Given the description of an element on the screen output the (x, y) to click on. 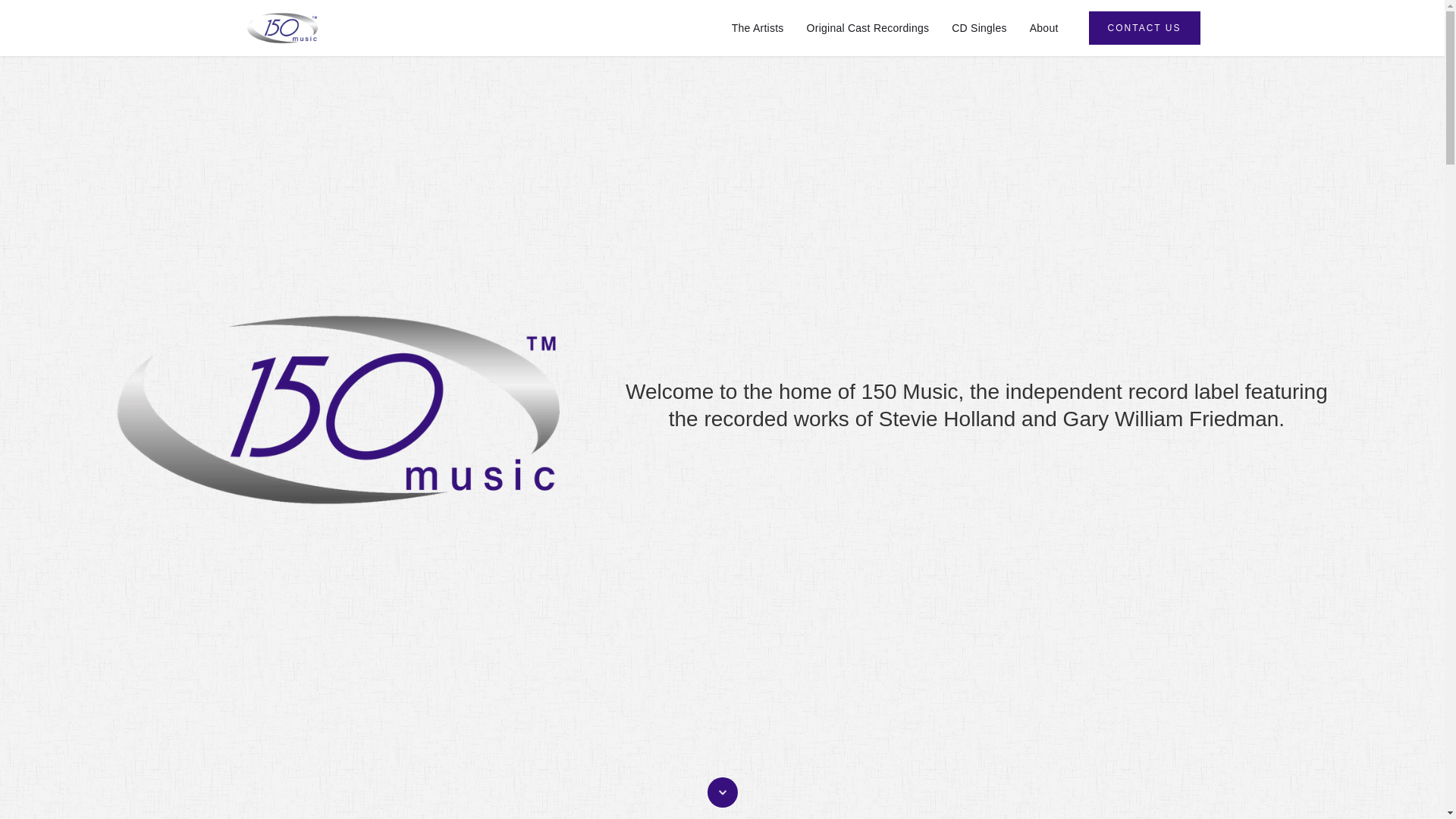
CD Singles Element type: text (979, 27)
CONTACT US Element type: text (1144, 27)
The Artists Element type: text (757, 27)
About Element type: text (1044, 27)
Original Cast Recordings Element type: text (868, 27)
